Given the description of an element on the screen output the (x, y) to click on. 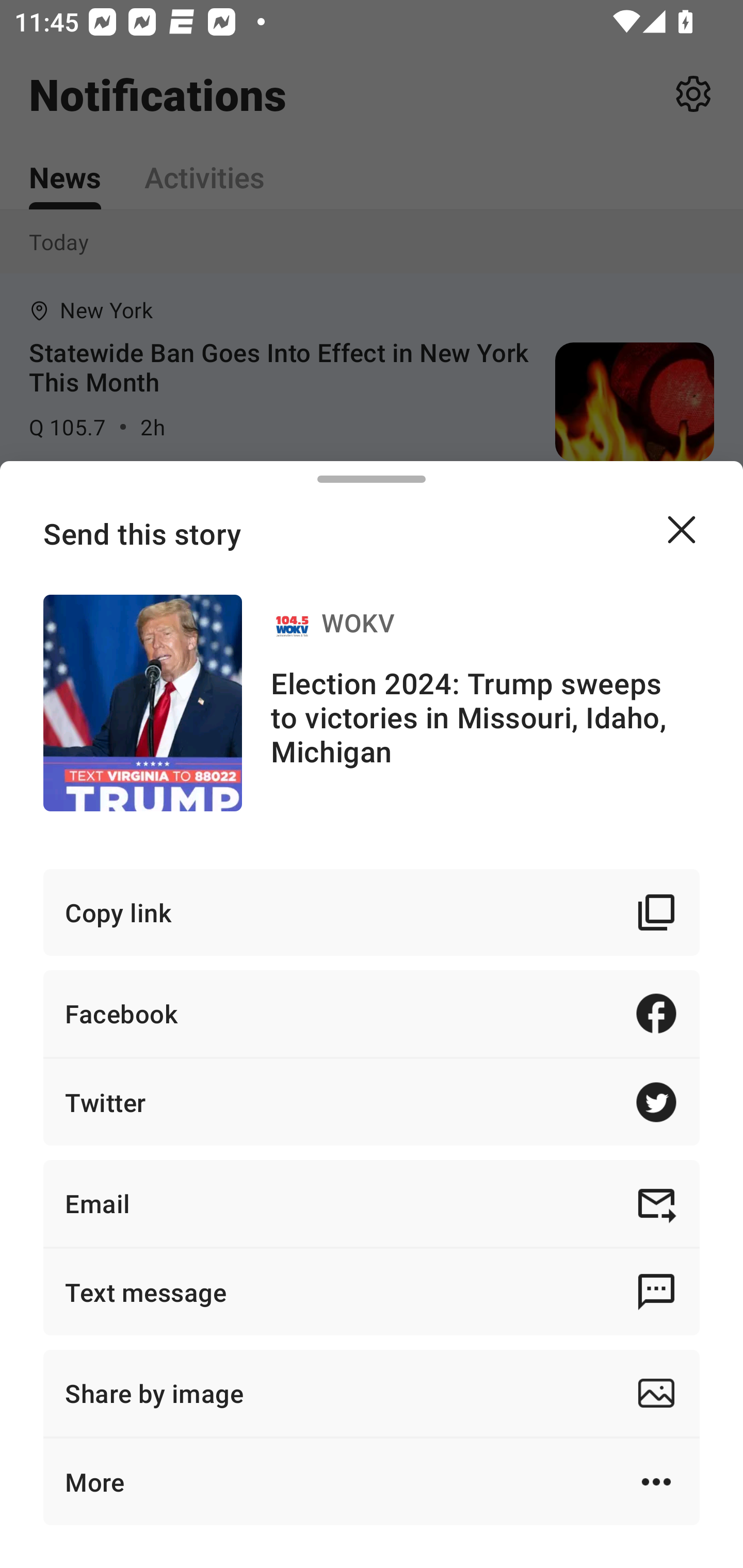
Copy link (371, 912)
Facebook (371, 1013)
Twitter (371, 1102)
Email (371, 1203)
Text message (371, 1291)
Share by image (371, 1393)
More (371, 1481)
